Given the description of an element on the screen output the (x, y) to click on. 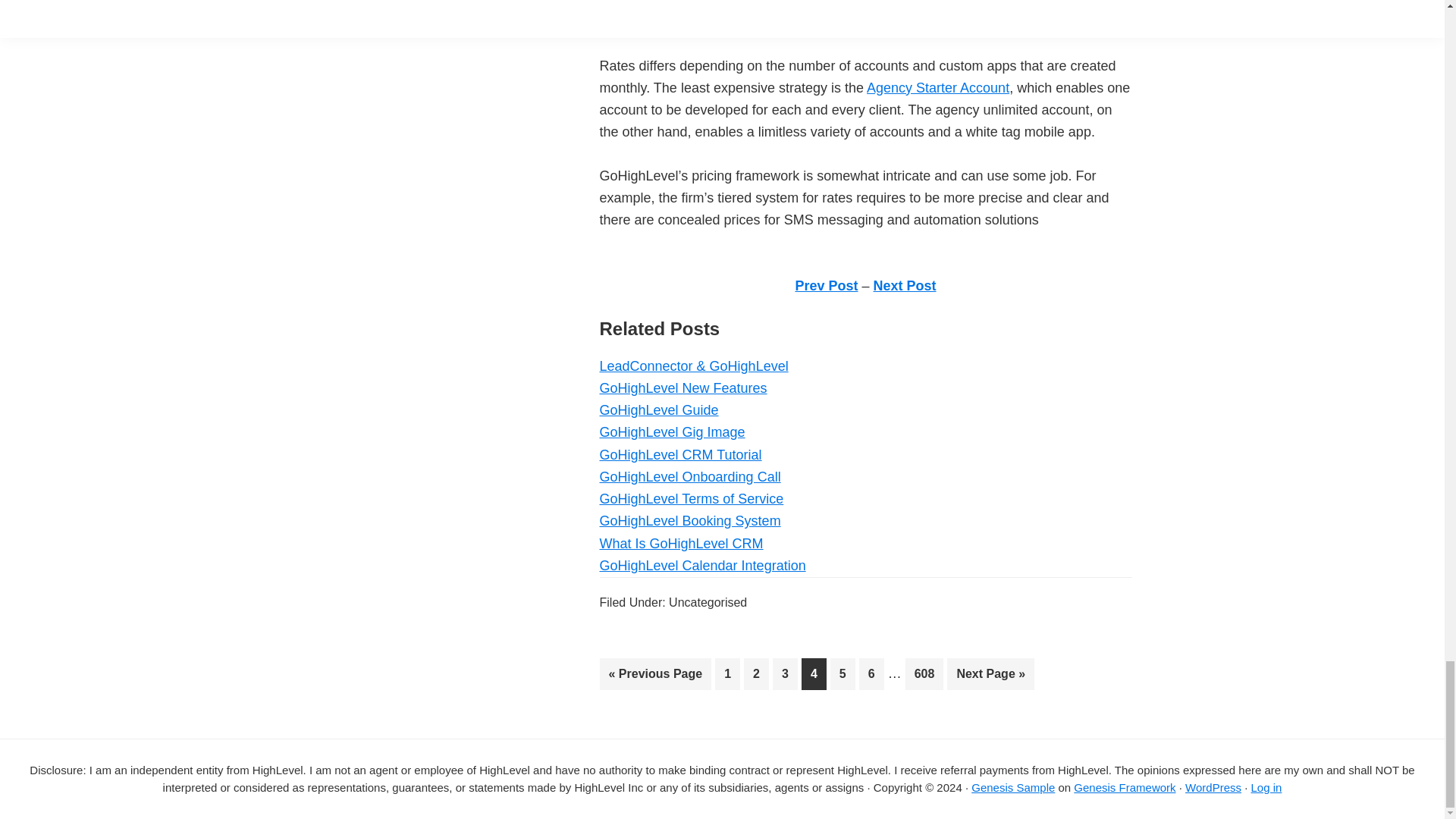
GoHighLevel New Features (682, 387)
GoHighLevel Calendar Integration (701, 565)
Genesis Framework (1124, 787)
GoHighLevel Gig Image (671, 432)
GoHighLevel Onboarding Call (689, 476)
GoHighLevel Guide (657, 409)
GoHighLevel CRM Tutorial (679, 454)
GoHighLevel Guide (657, 409)
Agency Starter Account (924, 674)
GoHighLevel CRM Tutorial (937, 87)
Genesis Sample (679, 454)
GoHighLevel Booking System (1012, 787)
What Is GoHighLevel CRM (689, 520)
WordPress (680, 543)
